Given the description of an element on the screen output the (x, y) to click on. 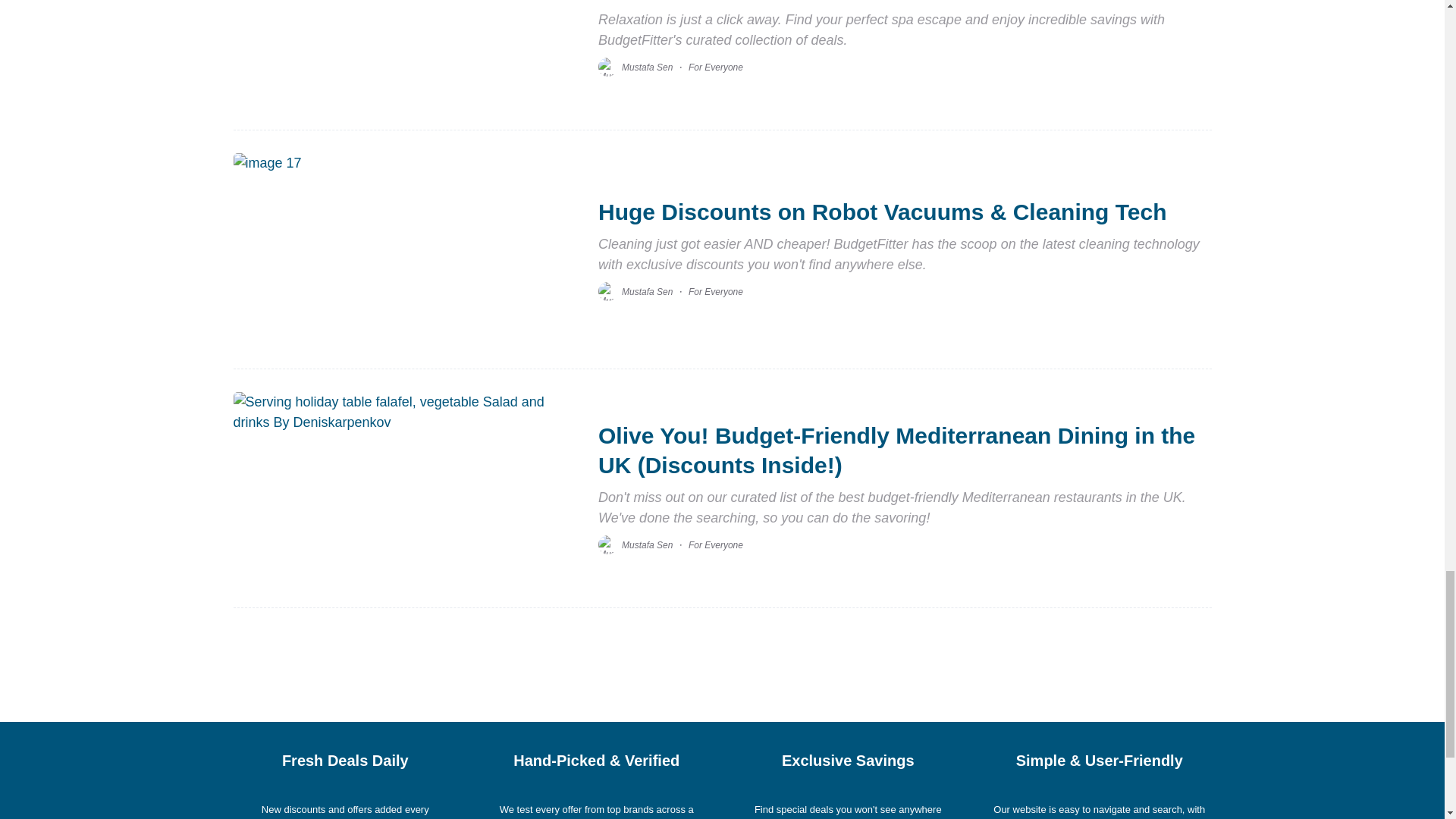
Posts by Mustafa Sen (646, 544)
Posts by Mustafa Sen (646, 67)
Posts by Mustafa Sen (646, 291)
